Given the description of an element on the screen output the (x, y) to click on. 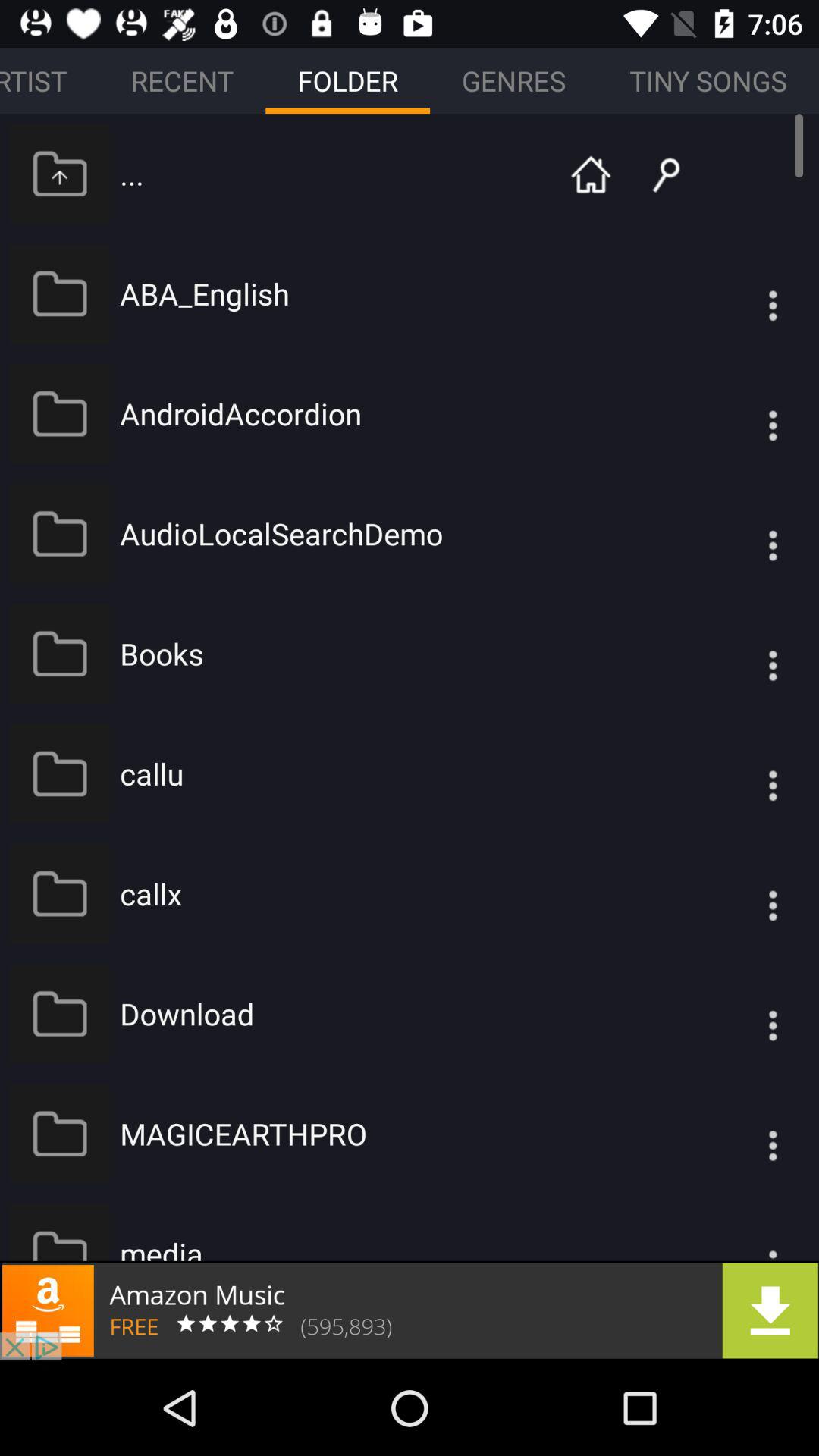
show the callu dropdown menu (742, 773)
